Given the description of an element on the screen output the (x, y) to click on. 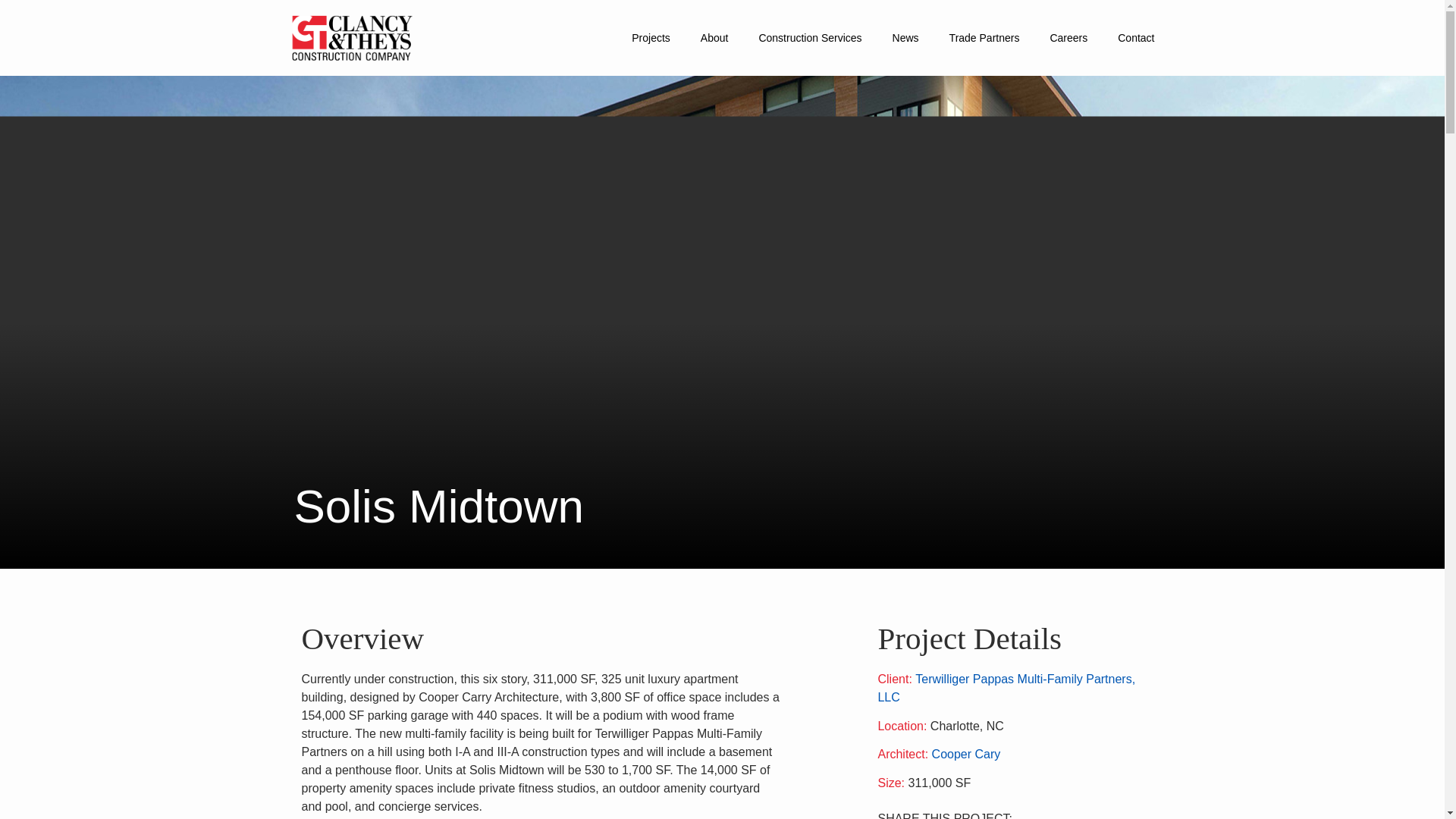
Trade Partners (984, 37)
News (905, 37)
About (714, 37)
Contact (1136, 37)
Skip to main content (24, 5)
Projects (650, 37)
Careers (1068, 37)
Contact (1136, 37)
Careers (1068, 37)
News (905, 37)
